Given the description of an element on the screen output the (x, y) to click on. 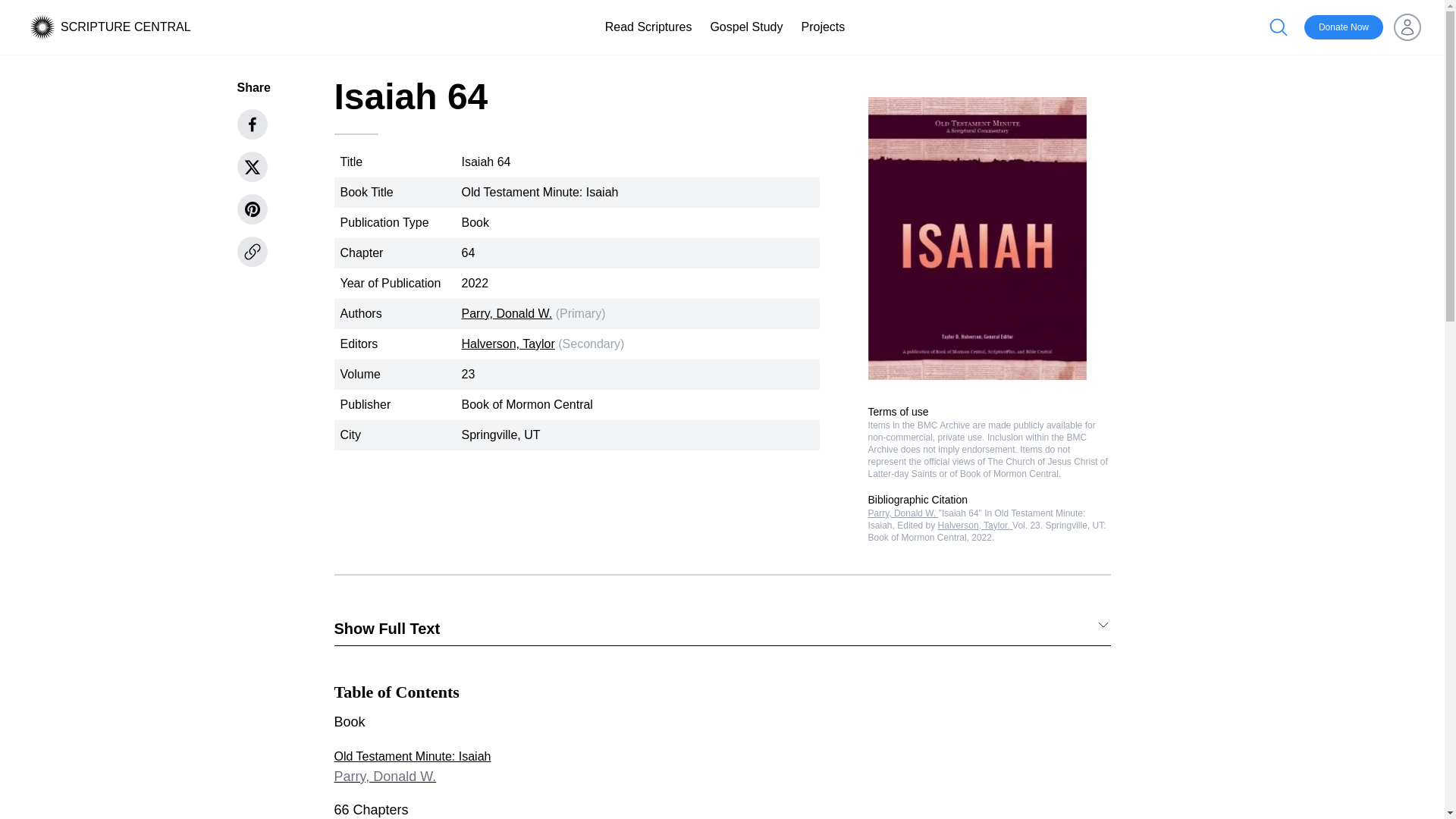
Parry, Donald W. (506, 313)
SCRIPTURE CENTRAL (125, 27)
Read Scriptures (649, 27)
Projects (822, 26)
Halverson, Taylor (507, 343)
Read Scriptures (649, 26)
Gospel Study (721, 767)
Donate Now (746, 27)
Gospel Study (1343, 27)
